Given the description of an element on the screen output the (x, y) to click on. 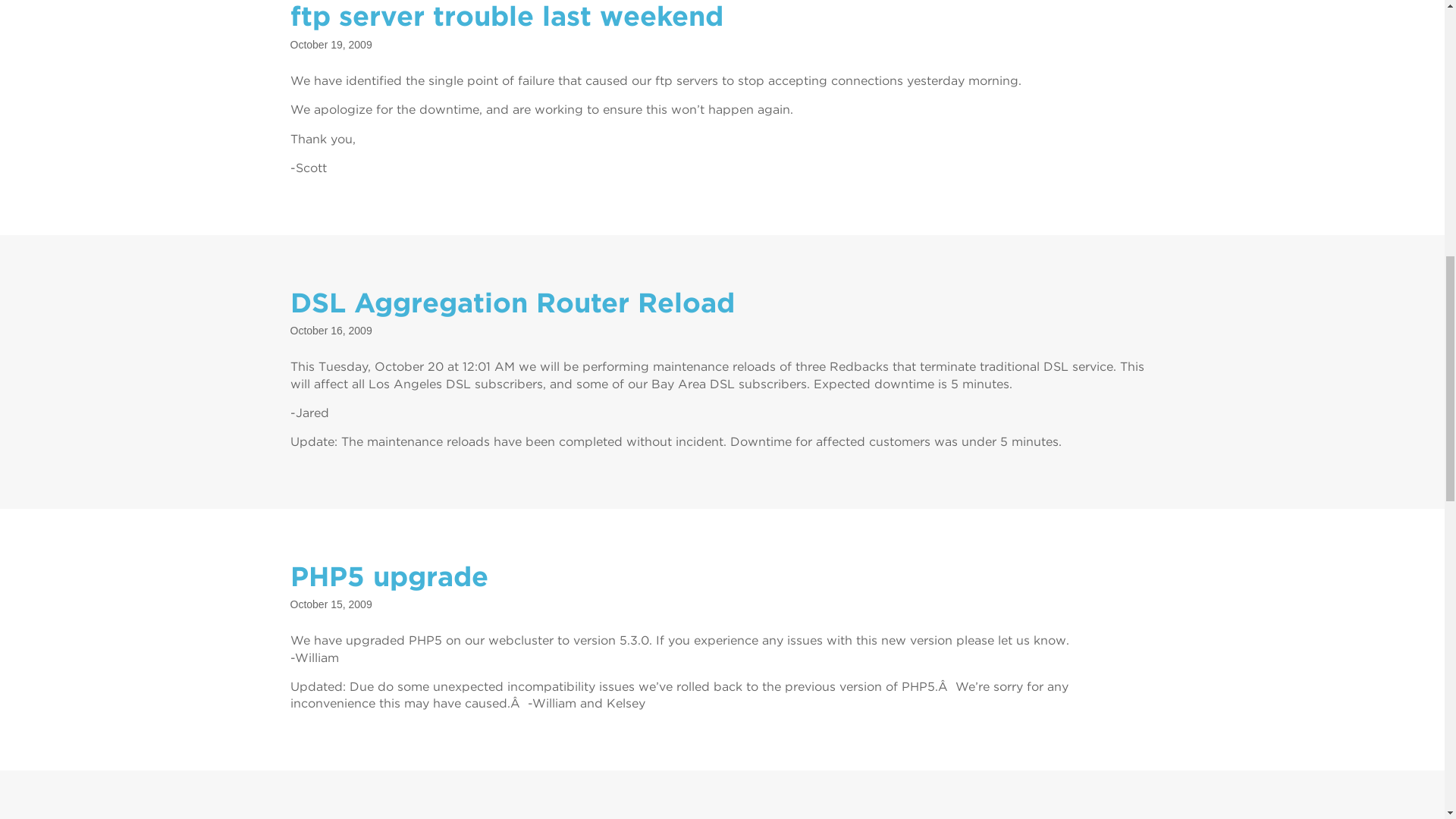
October 15, 2009 (330, 604)
ftp server trouble last weekend (505, 16)
October 16, 2009 (330, 330)
PHP5 upgrade (388, 575)
DSL Aggregation Router Reload (511, 302)
October 19, 2009 (330, 44)
